Given the description of an element on the screen output the (x, y) to click on. 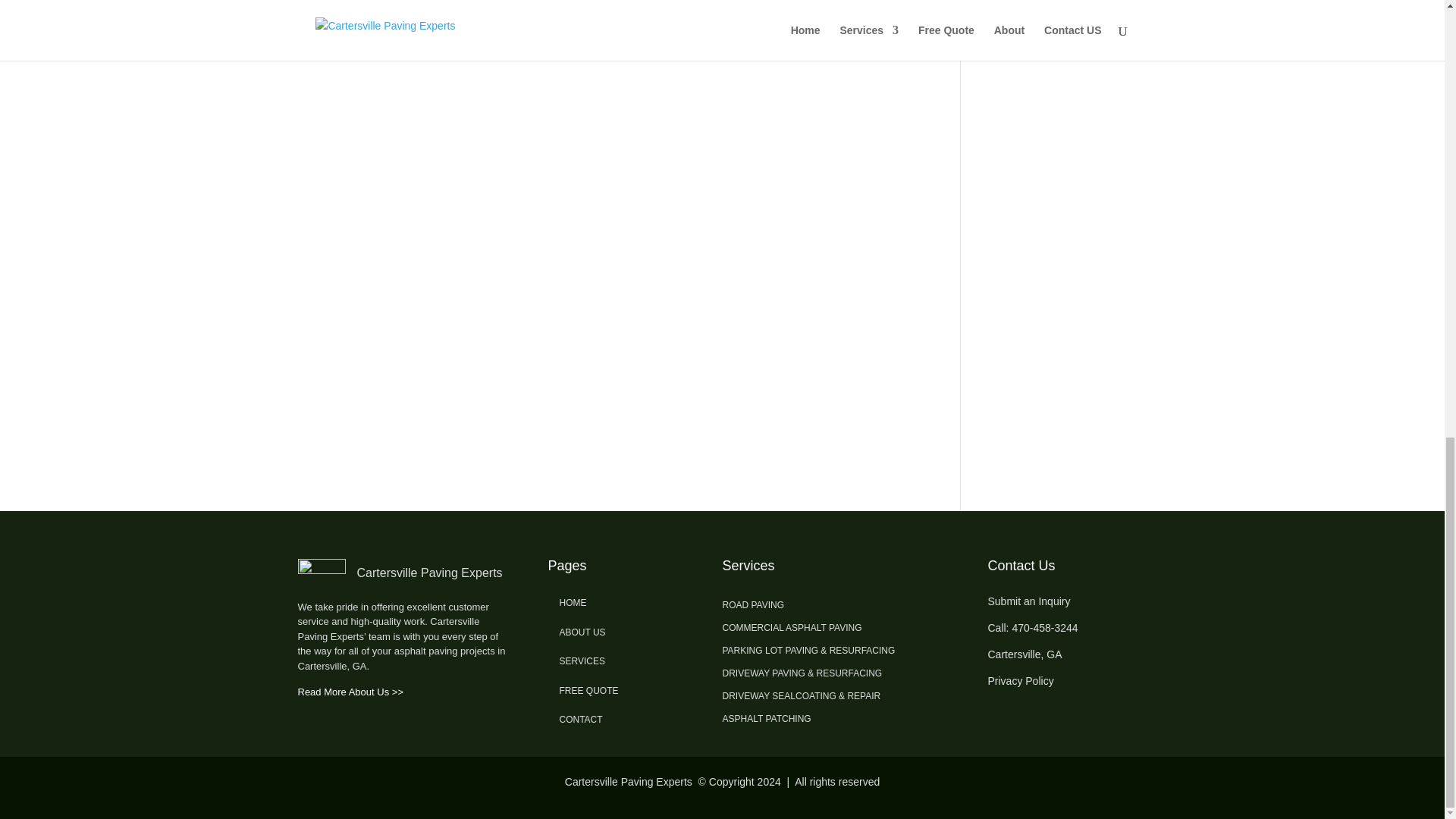
CONTACT (580, 719)
Call: 470-458-3244 (1032, 627)
ROAD PAVING (753, 607)
HOME (572, 602)
FREE QUOTE (588, 690)
SERVICES (582, 661)
Privacy Policy (1019, 680)
Submit an Inquiry (1028, 601)
Cartersville, GA (1024, 654)
ABOUT US (582, 632)
COMMERCIAL ASPHALT PAVING (791, 630)
ASPHALT PATCHING (766, 721)
